Given the description of an element on the screen output the (x, y) to click on. 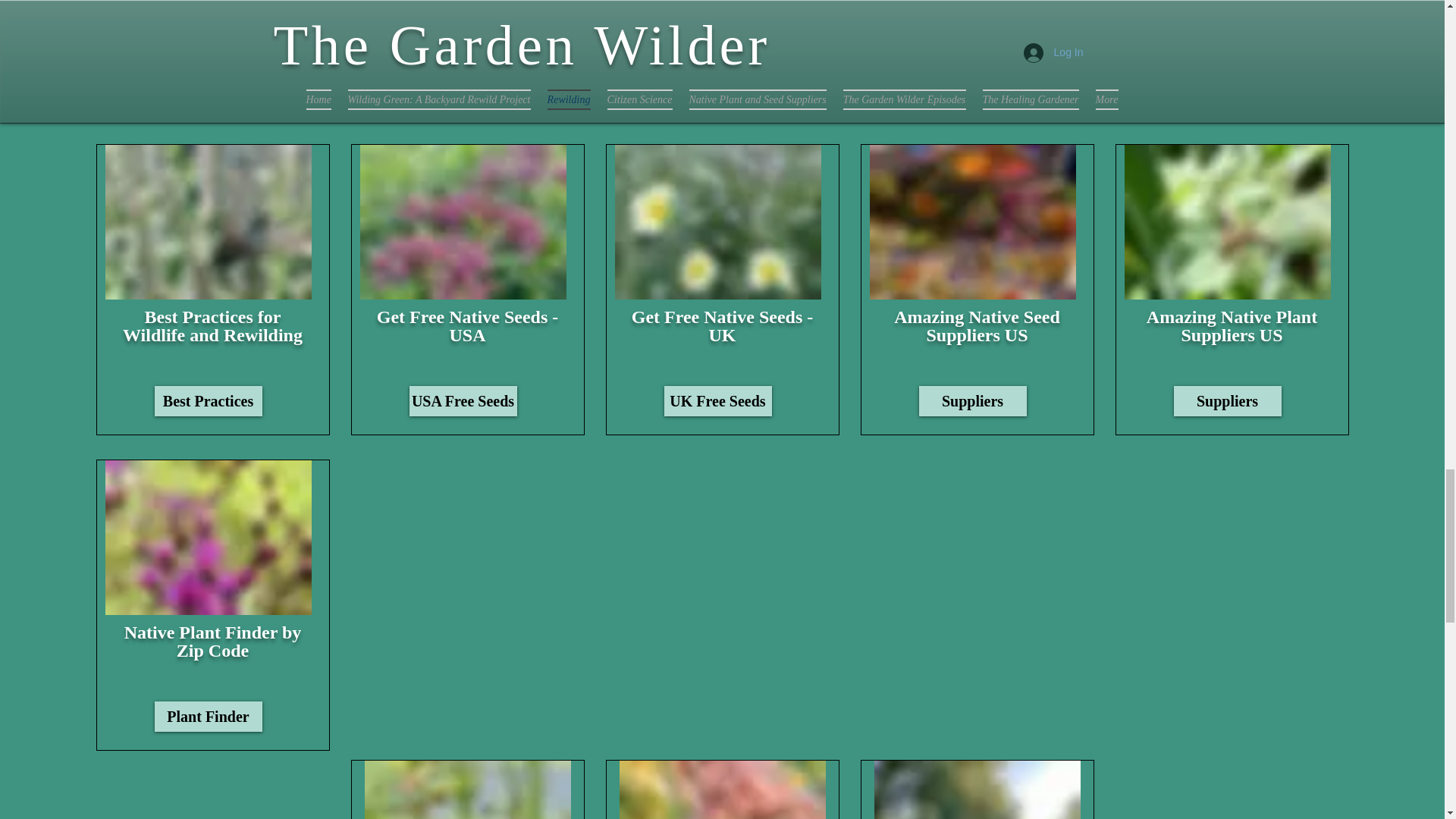
UK Free Seeds (717, 400)
USA Free Seeds (462, 400)
Best Practices (208, 400)
